Given the description of an element on the screen output the (x, y) to click on. 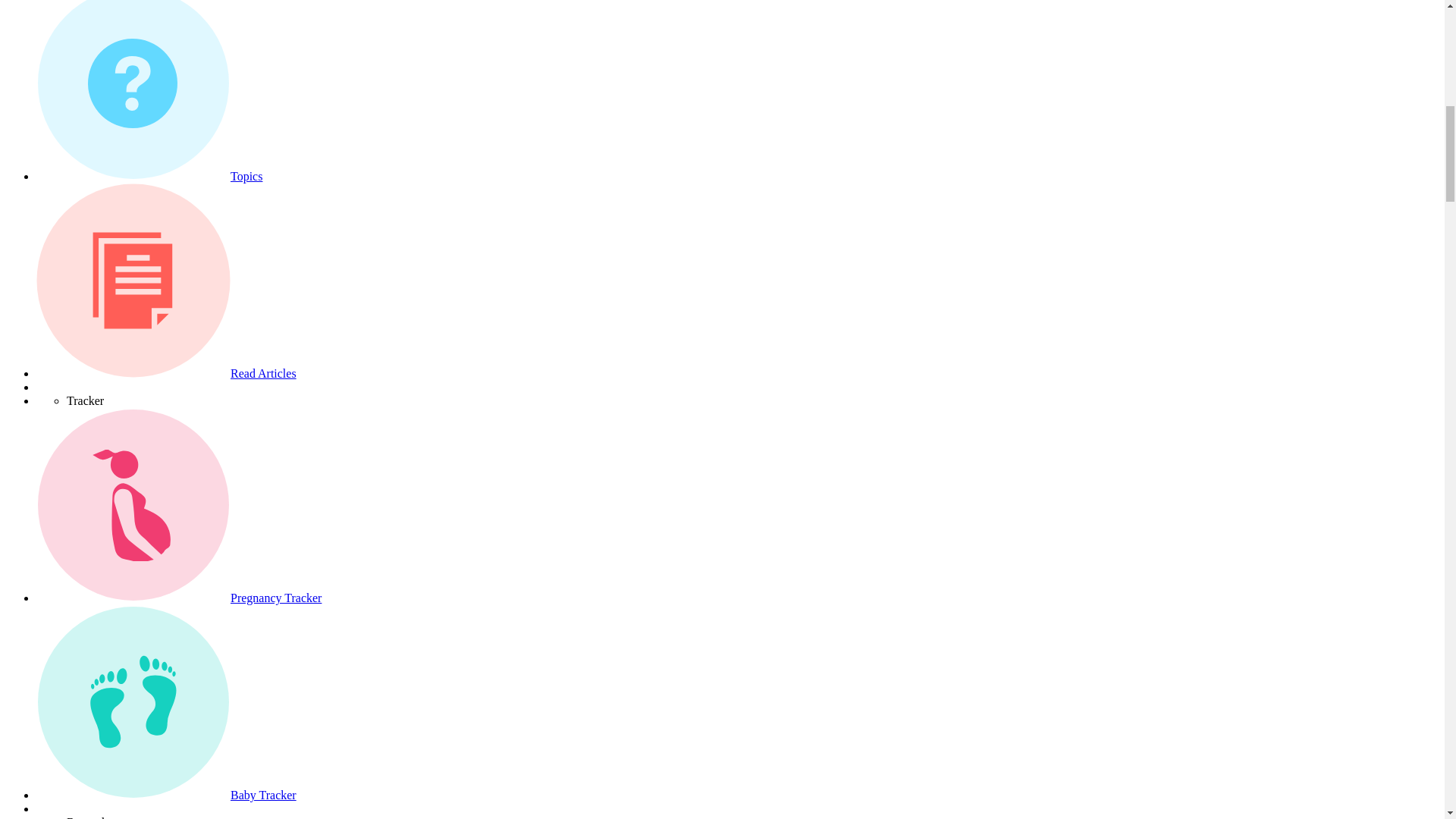
Read Articles (263, 373)
Baby Tracker (263, 794)
Pregnancy Tracker (275, 597)
Topics (246, 175)
